Given the description of an element on the screen output the (x, y) to click on. 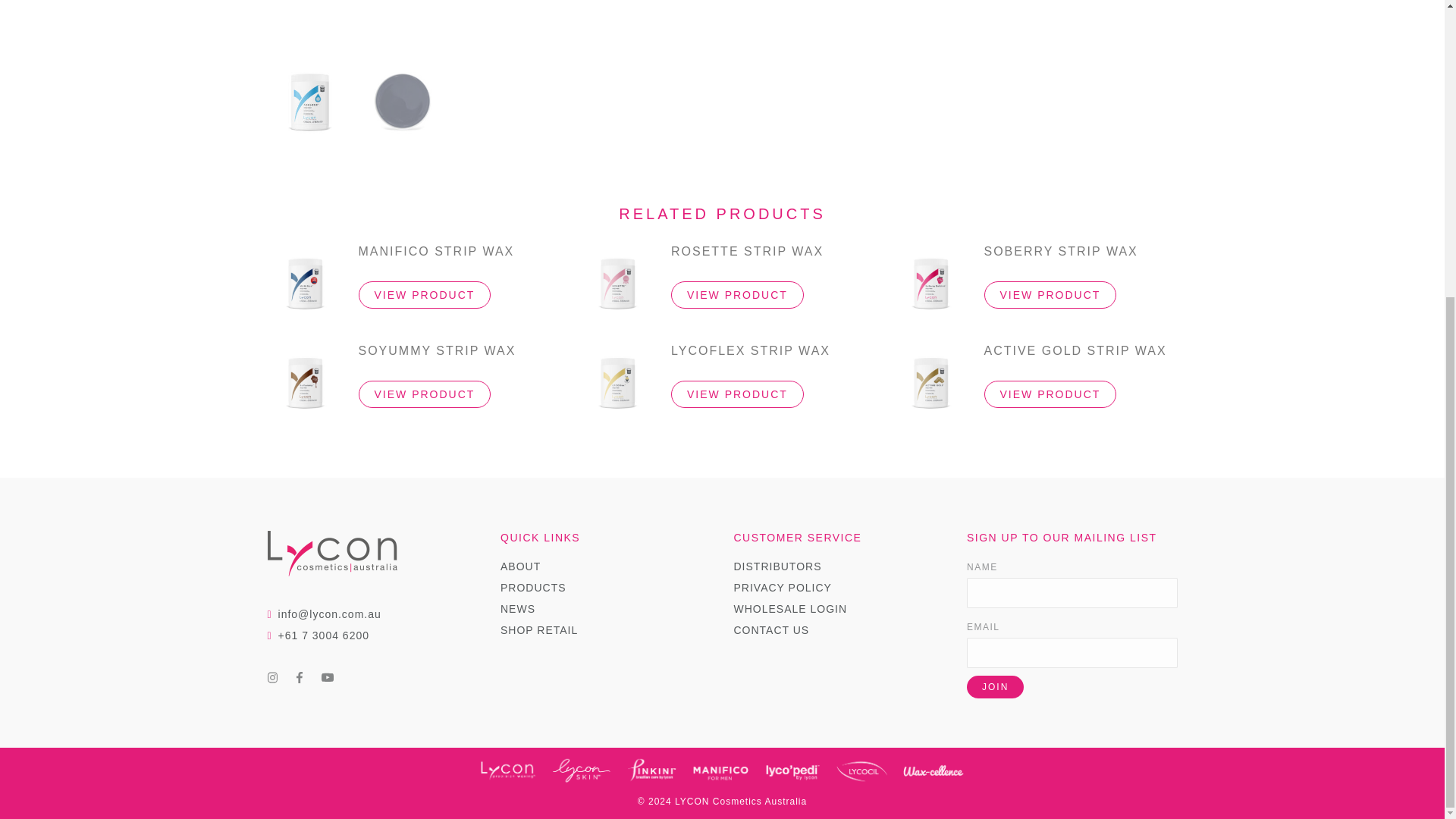
JOIN (994, 686)
YouTube (327, 676)
LYCON Skin (581, 769)
HOME (331, 552)
Instagram (272, 676)
Pinkini (651, 769)
LYCON (507, 769)
